Given the description of an element on the screen output the (x, y) to click on. 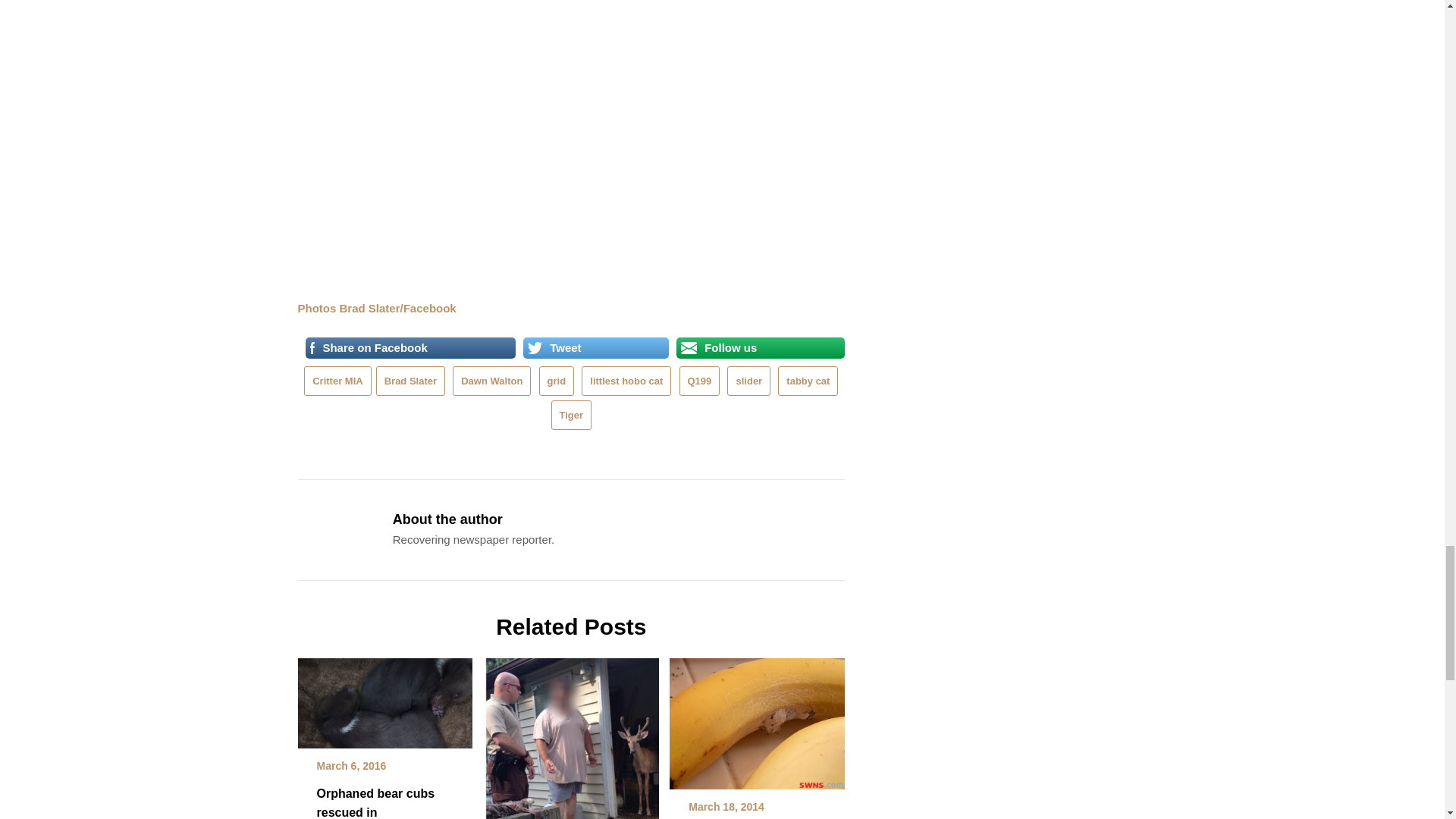
Tiger (571, 414)
Q199 (699, 380)
Bananas infested with hundreds of spiders (756, 718)
slider (748, 380)
Tweet (595, 347)
littlest hobo cat (625, 380)
grid (556, 380)
tabby cat (807, 380)
Critter MIA (337, 380)
Share on Facebook (409, 347)
Orphaned bear cubs rescued in Transylvania (384, 697)
Dawn Walton (491, 380)
Orphaned bear cubs rescued in Transylvania (376, 803)
Brad Slater (410, 380)
